Given the description of an element on the screen output the (x, y) to click on. 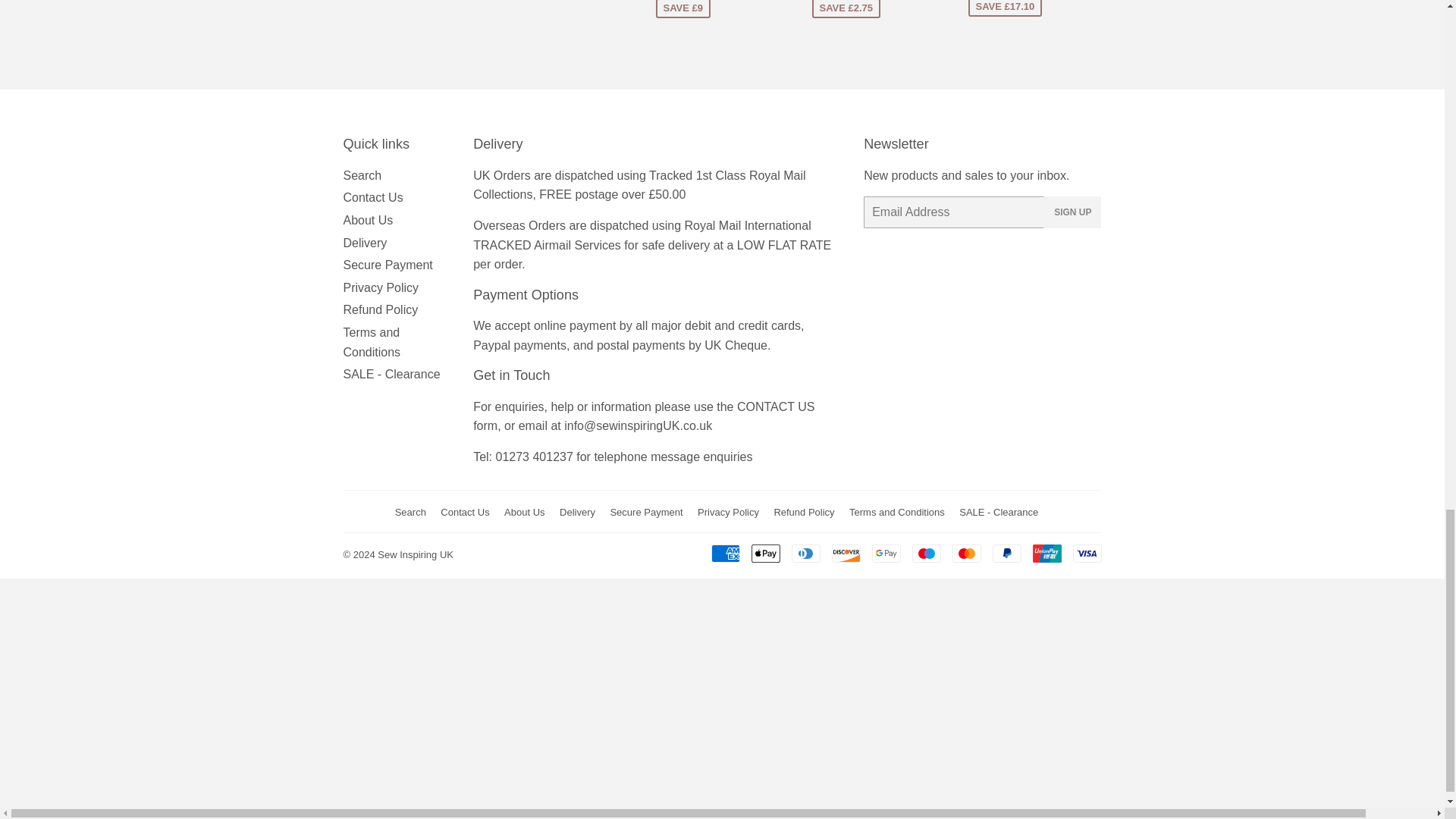
American Express (725, 553)
Visa (1085, 553)
PayPal (1005, 553)
Union Pay (1046, 553)
Mastercard (966, 553)
Apple Pay (764, 553)
Maestro (925, 553)
Google Pay (886, 553)
Discover (845, 553)
Diners Club (806, 553)
